Given the description of an element on the screen output the (x, y) to click on. 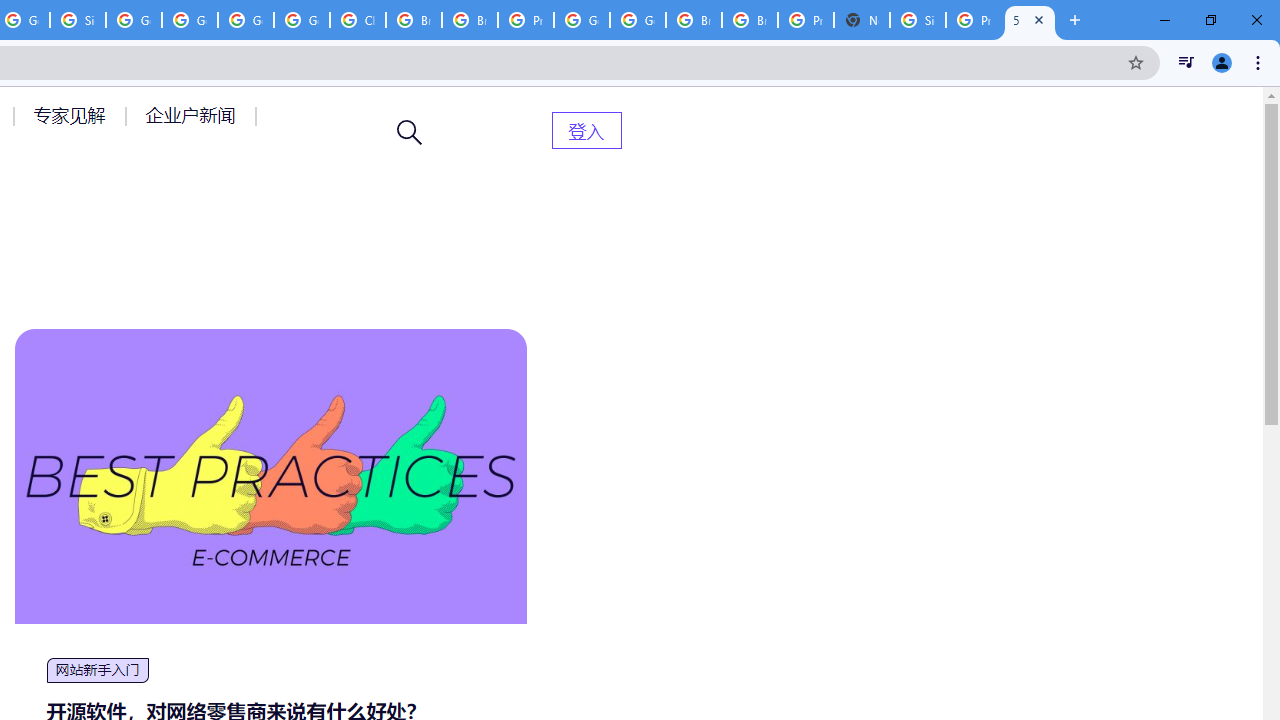
AutomationID: menu-item-77765 (194, 115)
Open search form (410, 132)
Google Cloud Platform (637, 20)
AutomationID: menu-item-77764 (72, 115)
AutomationID: menu-item-82399 (586, 129)
